Given the description of an element on the screen output the (x, y) to click on. 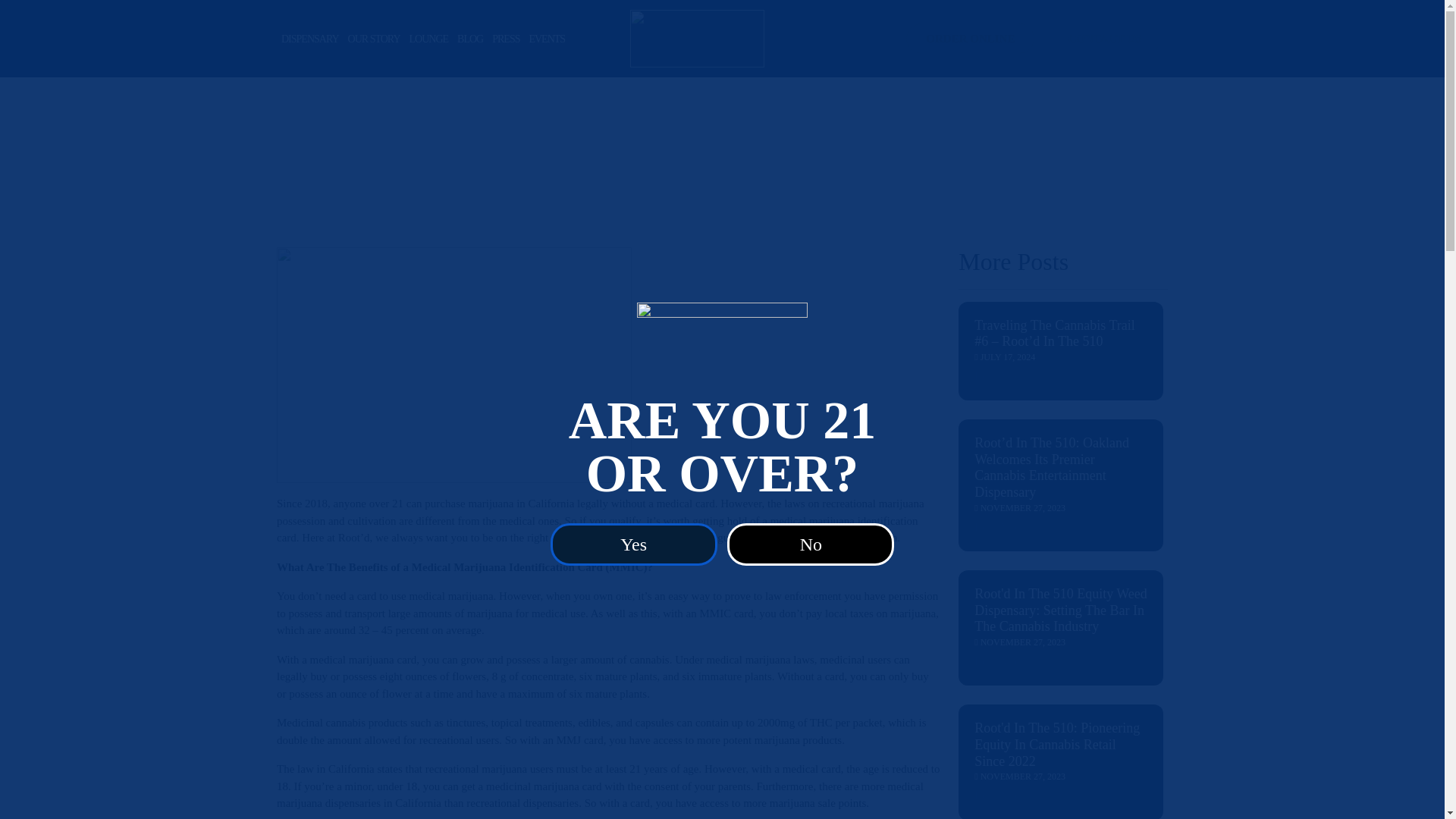
PRESS (505, 38)
BLOG (469, 38)
ORDER ONLINE (969, 38)
CONTACT US (1104, 38)
DISPENSARY (309, 38)
LOUNGE (428, 38)
EVENTS (546, 38)
OUR STORY (373, 38)
